Given the description of an element on the screen output the (x, y) to click on. 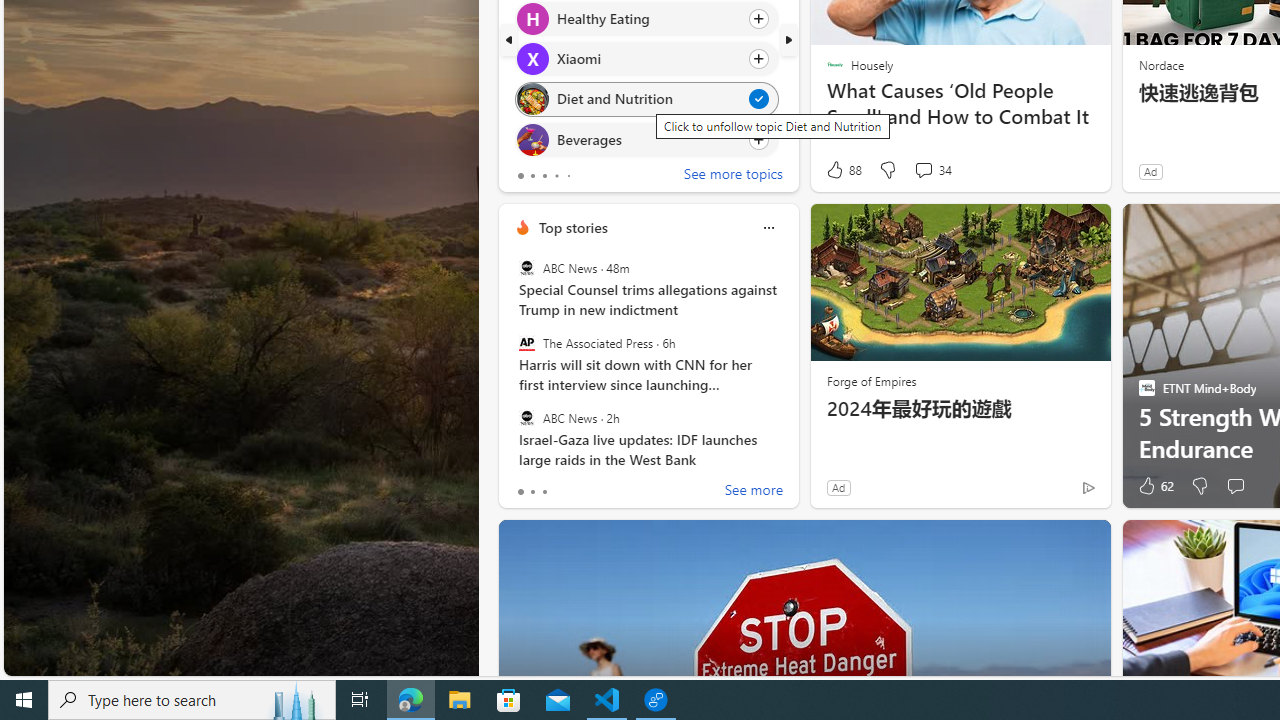
Start the conversation (1235, 485)
Click to unfollow topic Diet and Nutrition (646, 99)
tab-2 (543, 491)
88 Like (843, 170)
View comments 34 Comment (932, 170)
Class: icon-img (768, 228)
See more (753, 491)
Ad Choice (1087, 487)
tab-4 (567, 175)
next (788, 39)
Ad (838, 487)
Nordace (1160, 64)
